Given the description of an element on the screen output the (x, y) to click on. 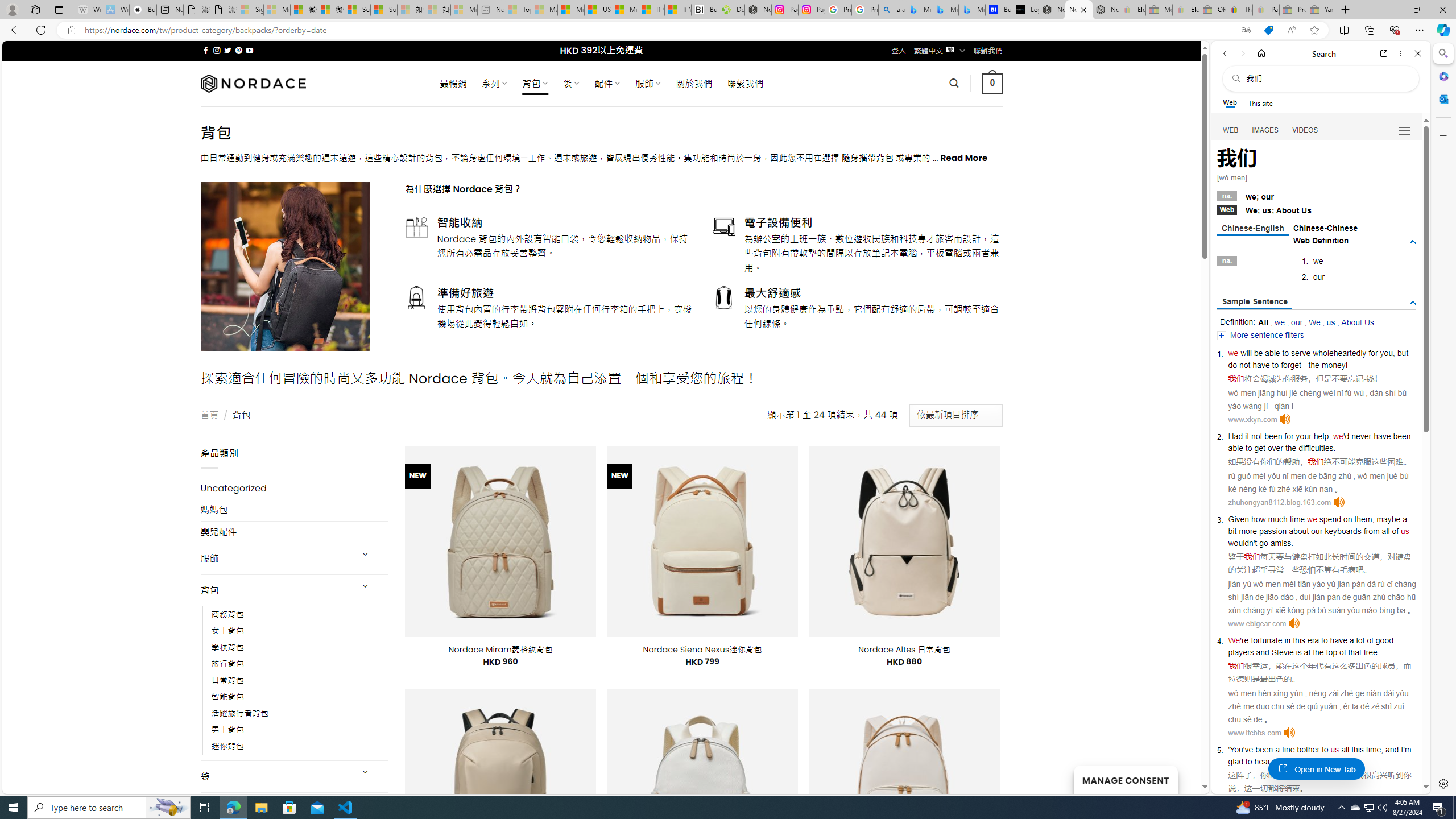
Click to listen (1289, 732)
Marine life - MSN - Sleeping (543, 9)
Sign in to your Microsoft account - Sleeping (249, 9)
